Given the description of an element on the screen output the (x, y) to click on. 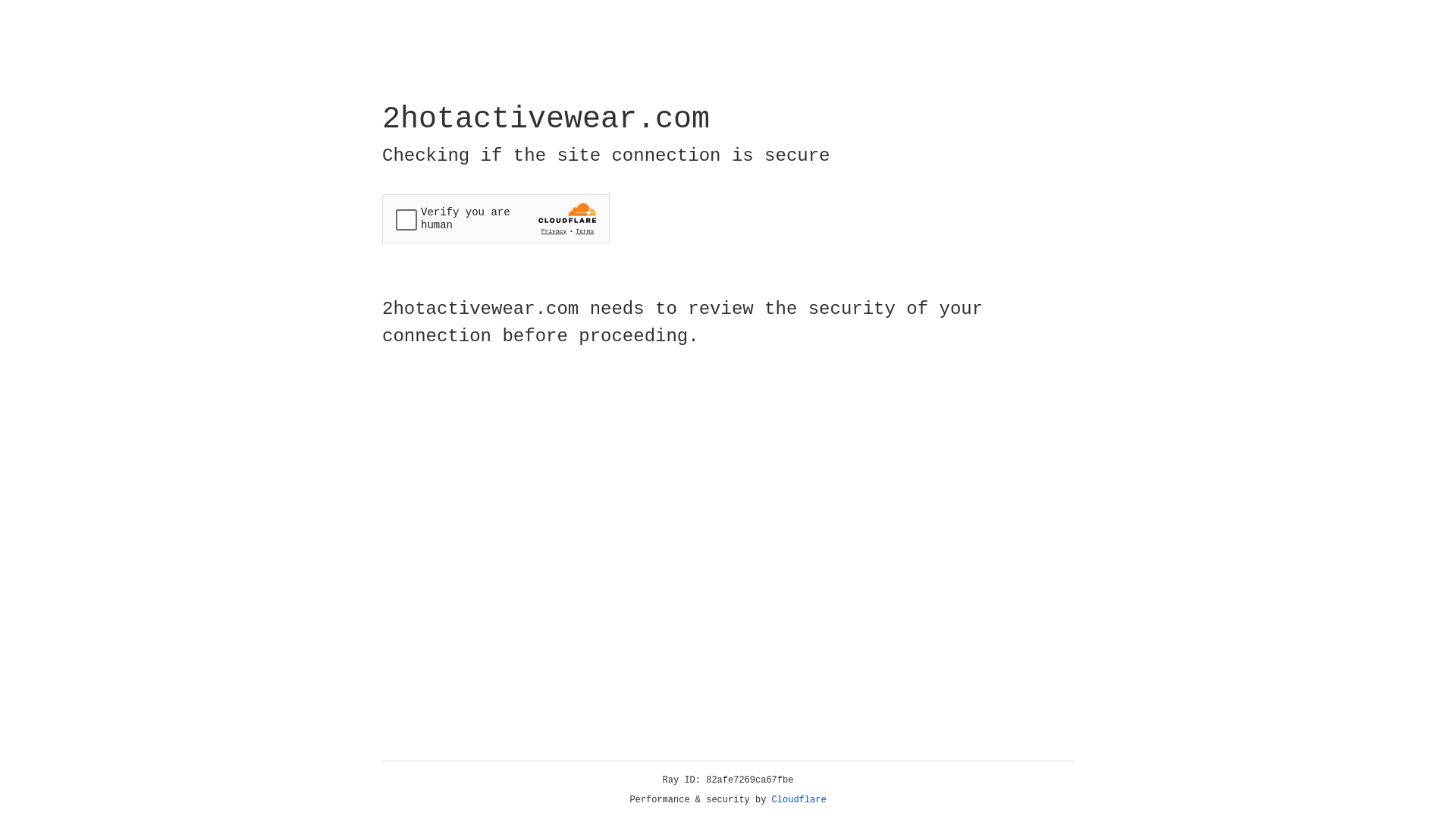
Cloudflare Element type: text (798, 799)
Widget containing a Cloudflare security challenge Element type: hover (495, 218)
